Given the description of an element on the screen output the (x, y) to click on. 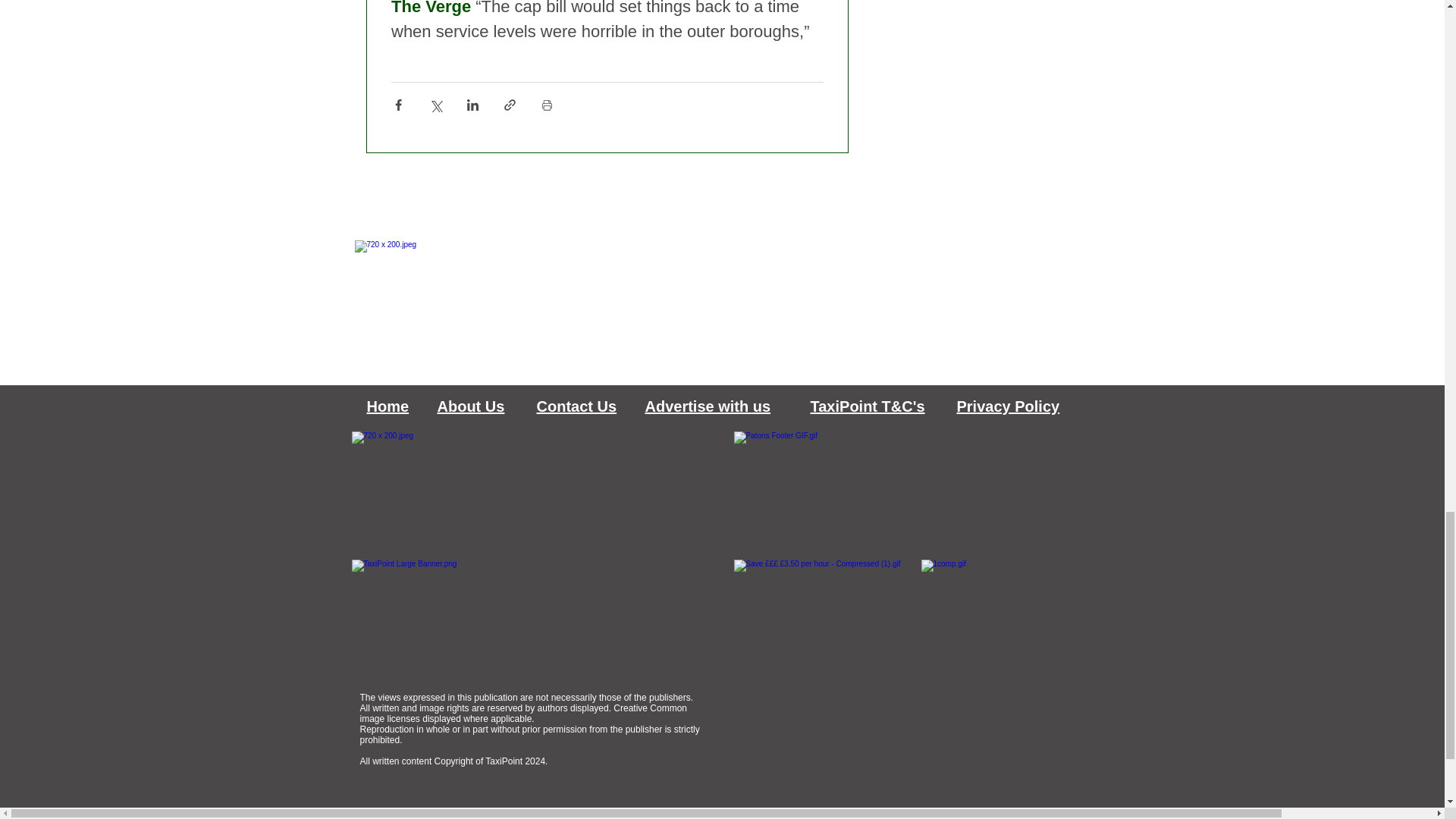
Advertise with us (707, 406)
Privacy Policy (1007, 406)
Home (387, 406)
Contact Us (577, 406)
About Us (469, 406)
The Verge (430, 7)
